Given the description of an element on the screen output the (x, y) to click on. 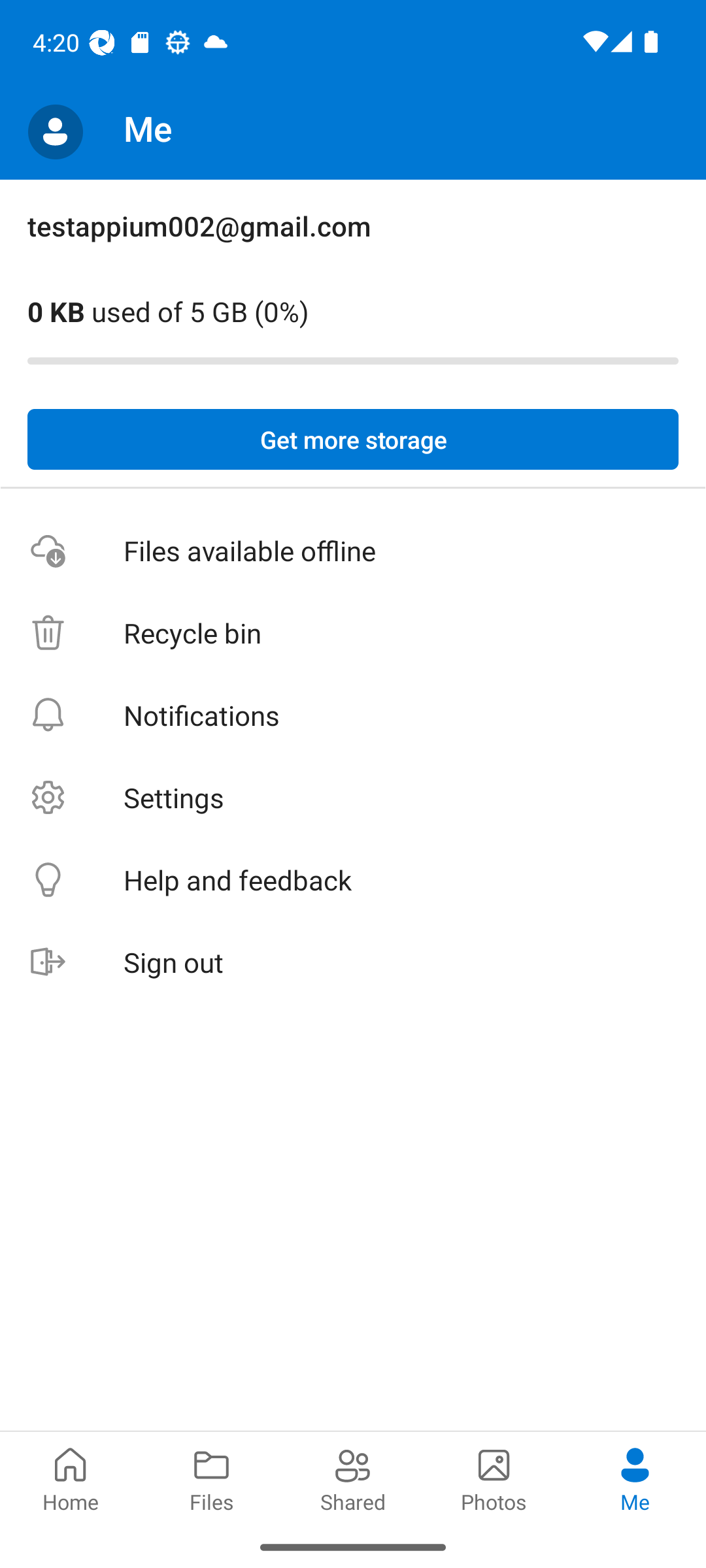
Account switcher (55, 131)
Get more storage (352, 439)
Files available offline (353, 550)
Recycle bin (353, 633)
Notifications (353, 714)
Settings (353, 796)
Help and feedback (353, 879)
Sign out (353, 962)
Home pivot Home (70, 1478)
Files pivot Files (211, 1478)
Shared pivot Shared (352, 1478)
Photos pivot Photos (493, 1478)
